Given the description of an element on the screen output the (x, y) to click on. 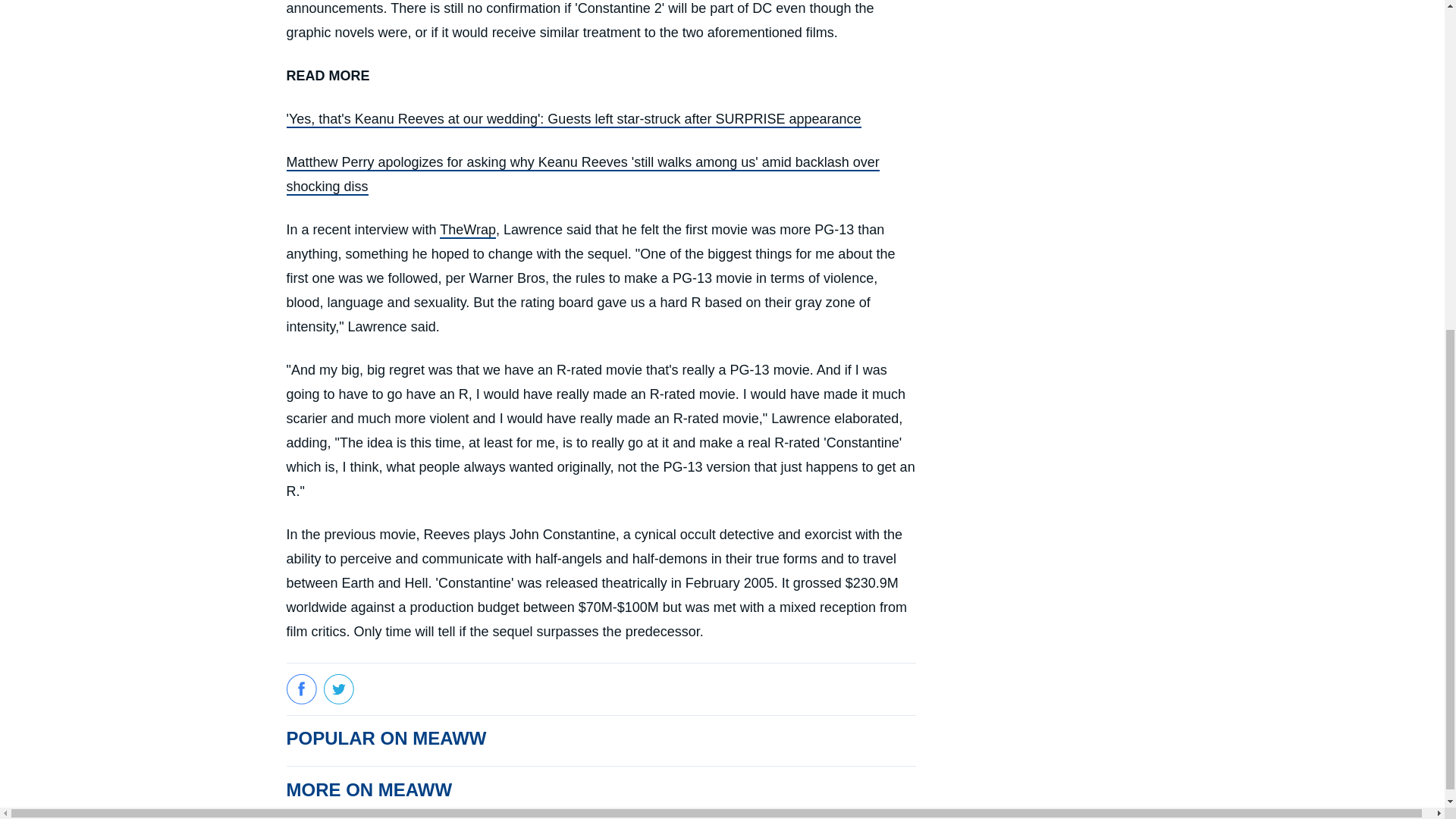
TheWrap (467, 230)
